Given the description of an element on the screen output the (x, y) to click on. 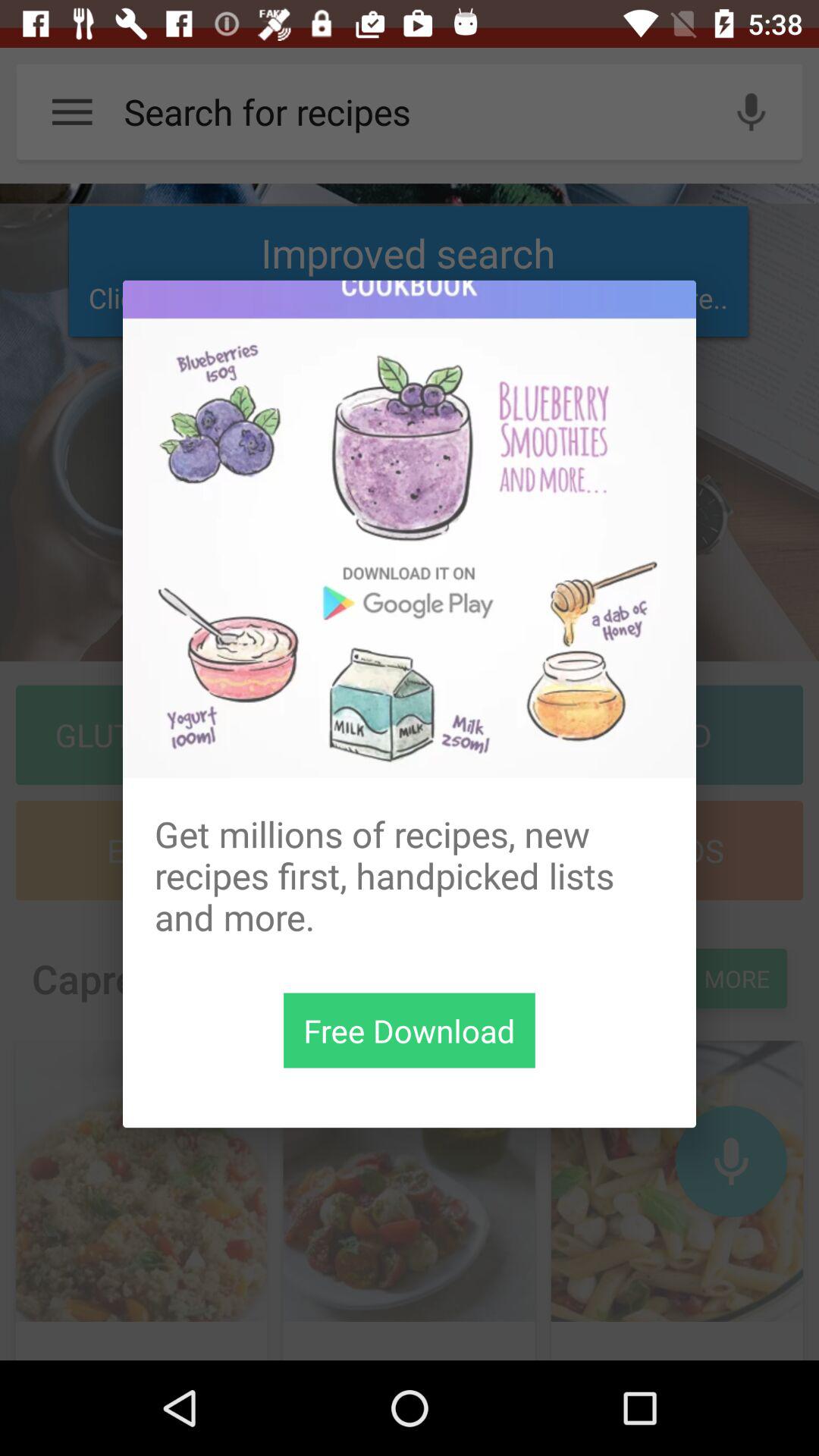
free download button (409, 1030)
